Given the description of an element on the screen output the (x, y) to click on. 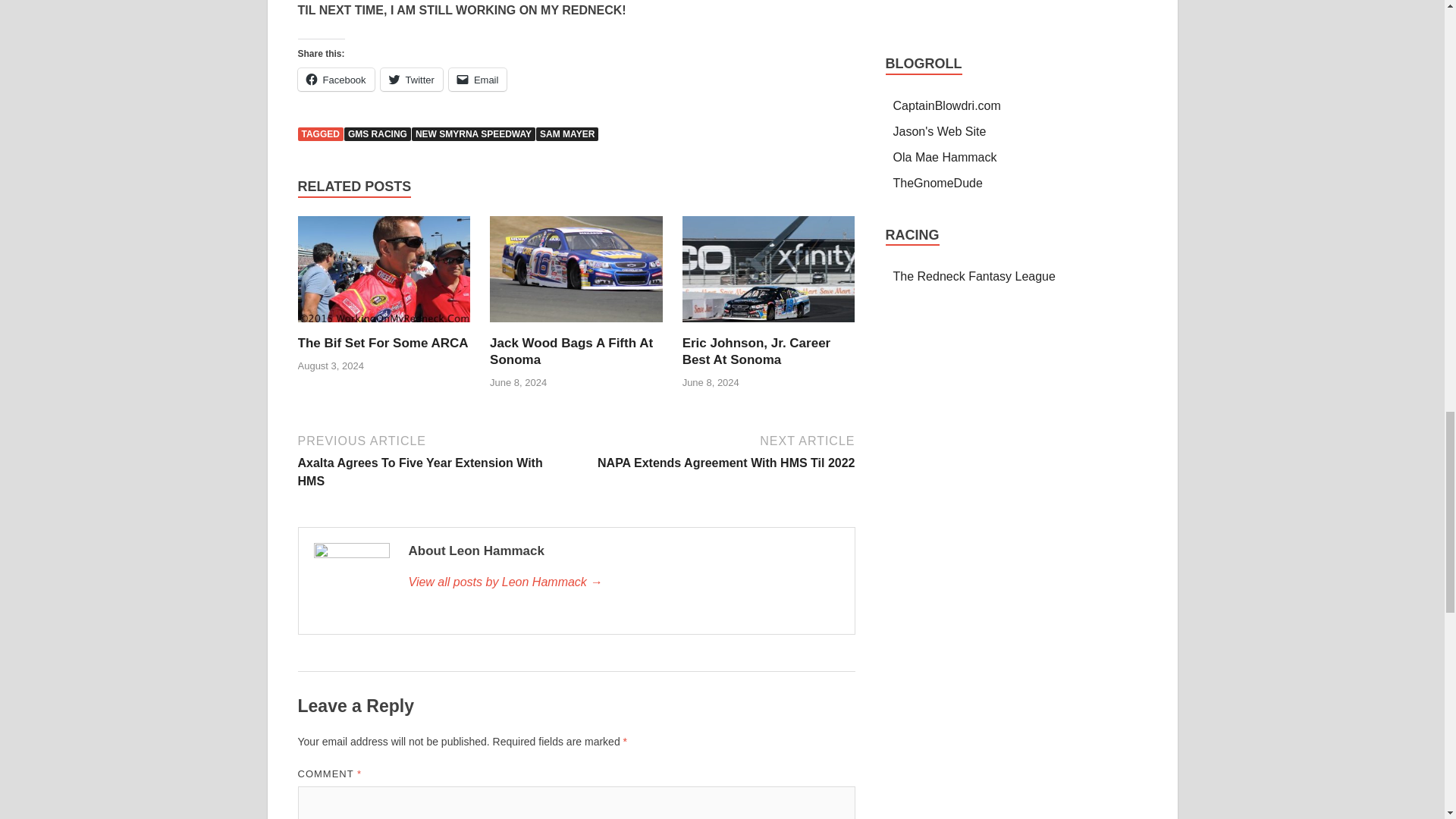
Leon Hammack (717, 450)
Click to share on Facebook (622, 582)
Jack Wood Bags A Fifth At Sonoma (335, 78)
Eric Johnson, Jr. Career Best At Sonoma (570, 350)
Jack Wood Bags A Fifth At Sonoma (756, 350)
GMS RACING (570, 350)
Facebook (376, 133)
Click to share on Twitter (335, 78)
Eric Johnson, Jr. Career Best At Sonoma (411, 78)
